Given the description of an element on the screen output the (x, y) to click on. 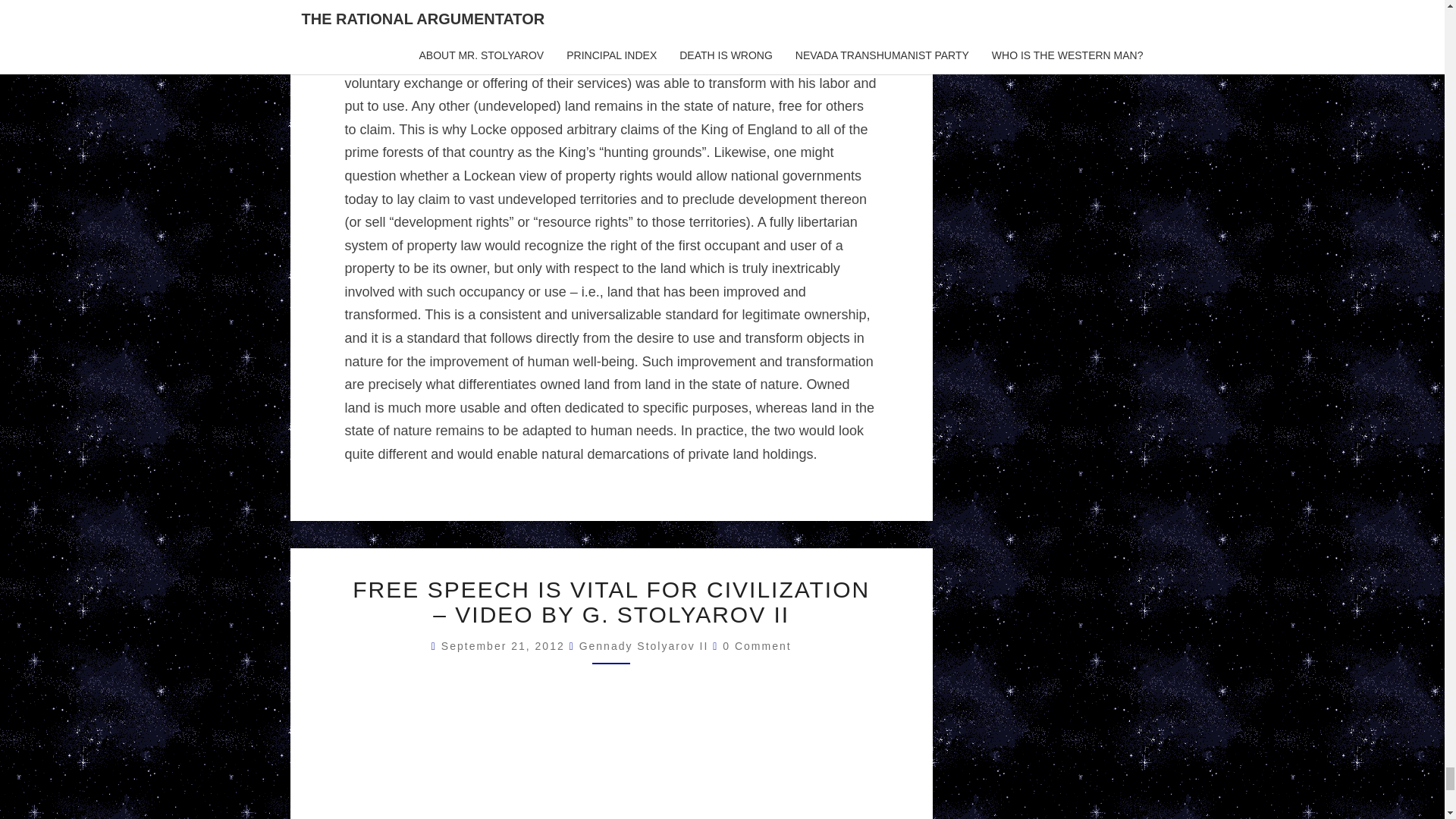
View all posts by Gennady Stolyarov II (644, 645)
4:53 AM (505, 645)
